Given the description of an element on the screen output the (x, y) to click on. 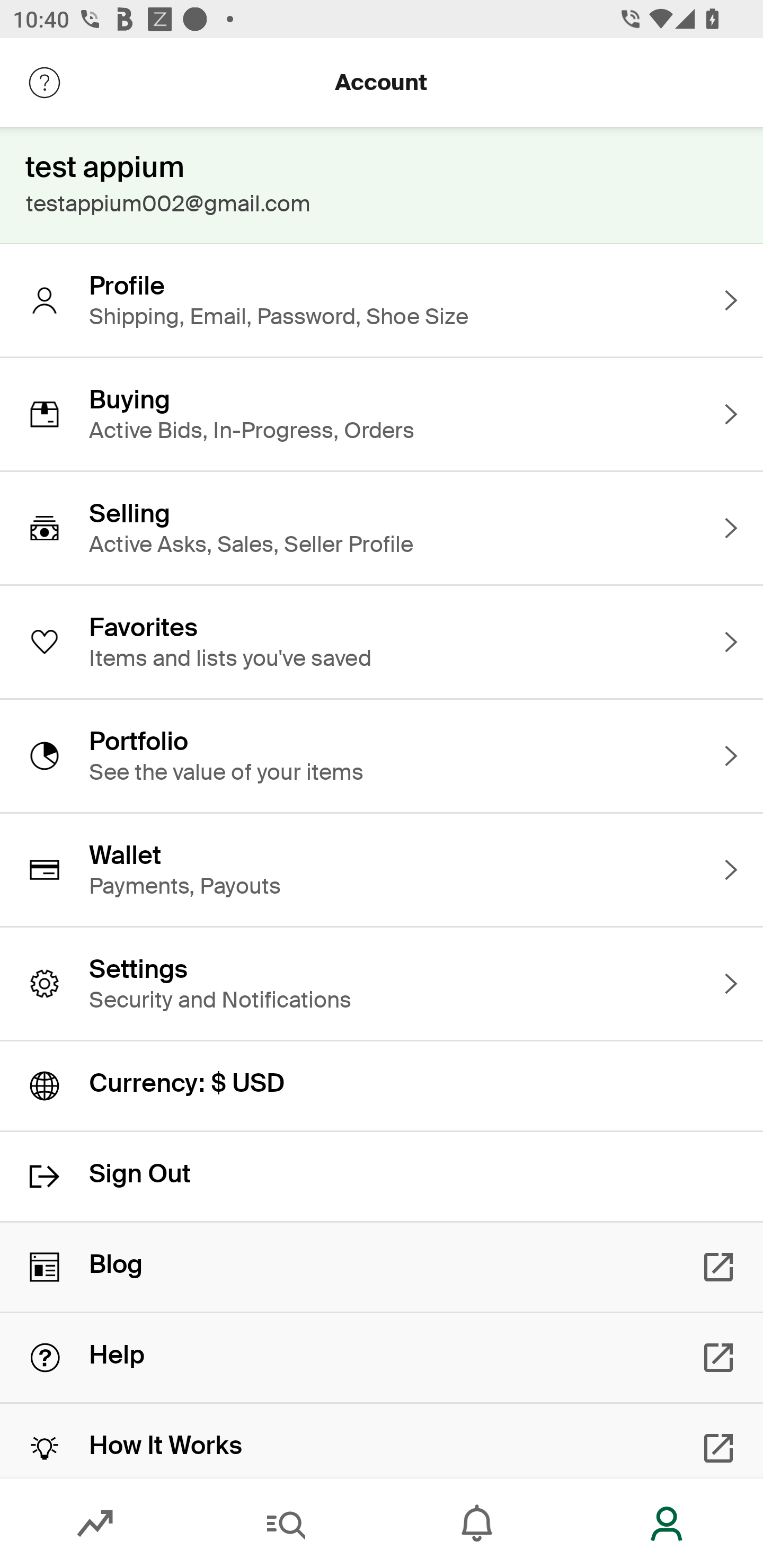
Profile Shipping, Email, Password, Shoe Size (381, 299)
Buying Active Bids, In-Progress, Orders (381, 413)
Selling Active Asks, Sales, Seller Profile (381, 527)
Favorites Items and lists you've saved (381, 641)
Portfolio See the value of your items (381, 755)
Wallet Payments, Payouts (381, 869)
Settings Security and Notifications (381, 983)
Currency: $ USD (381, 1085)
Sign Out (381, 1176)
Blog (381, 1266)
Help (381, 1357)
How It Works (381, 1440)
Market (95, 1523)
Search (285, 1523)
Inbox (476, 1523)
